Given the description of an element on the screen output the (x, y) to click on. 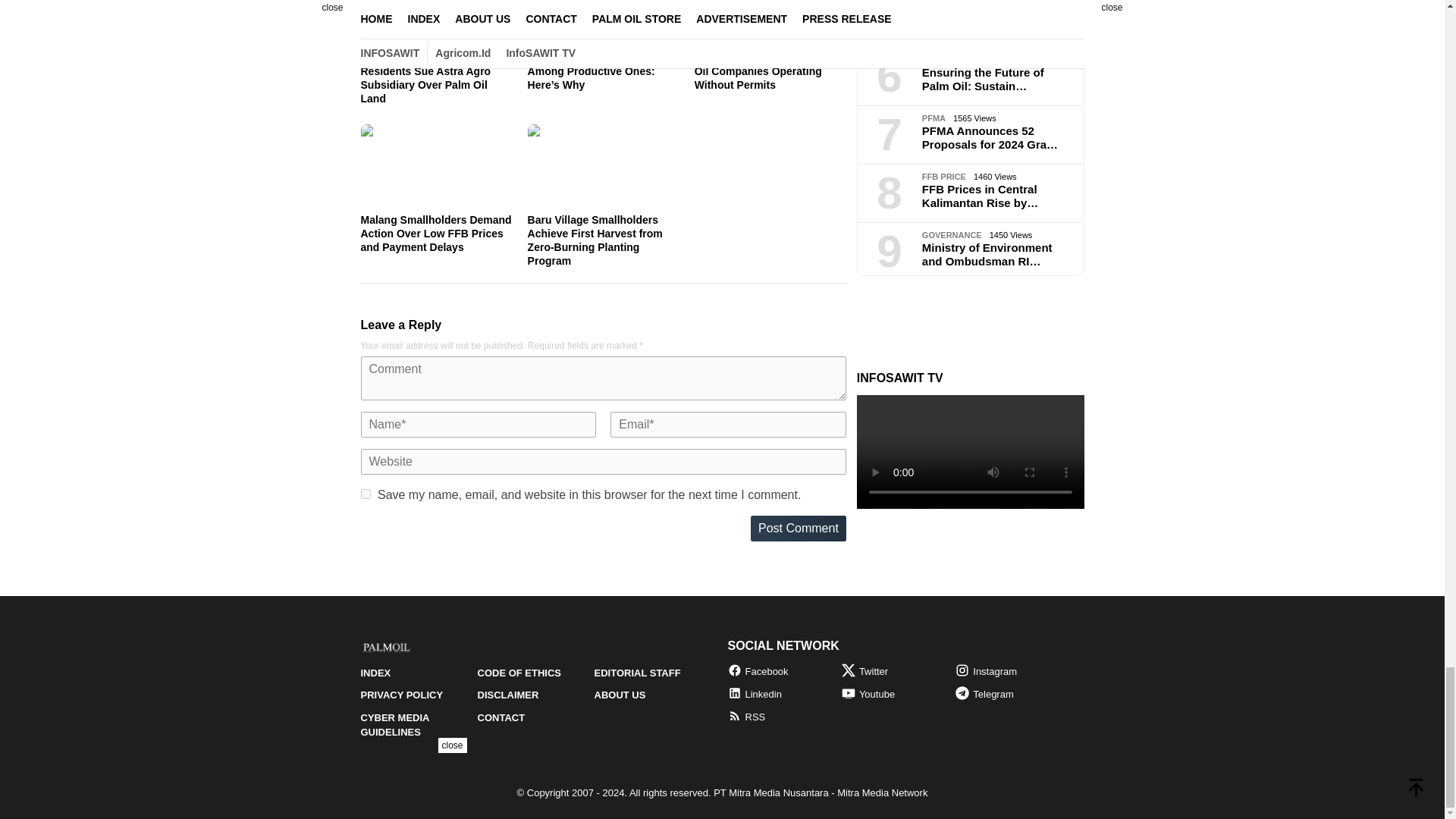
Post Comment (798, 528)
yes (366, 493)
